Given the description of an element on the screen output the (x, y) to click on. 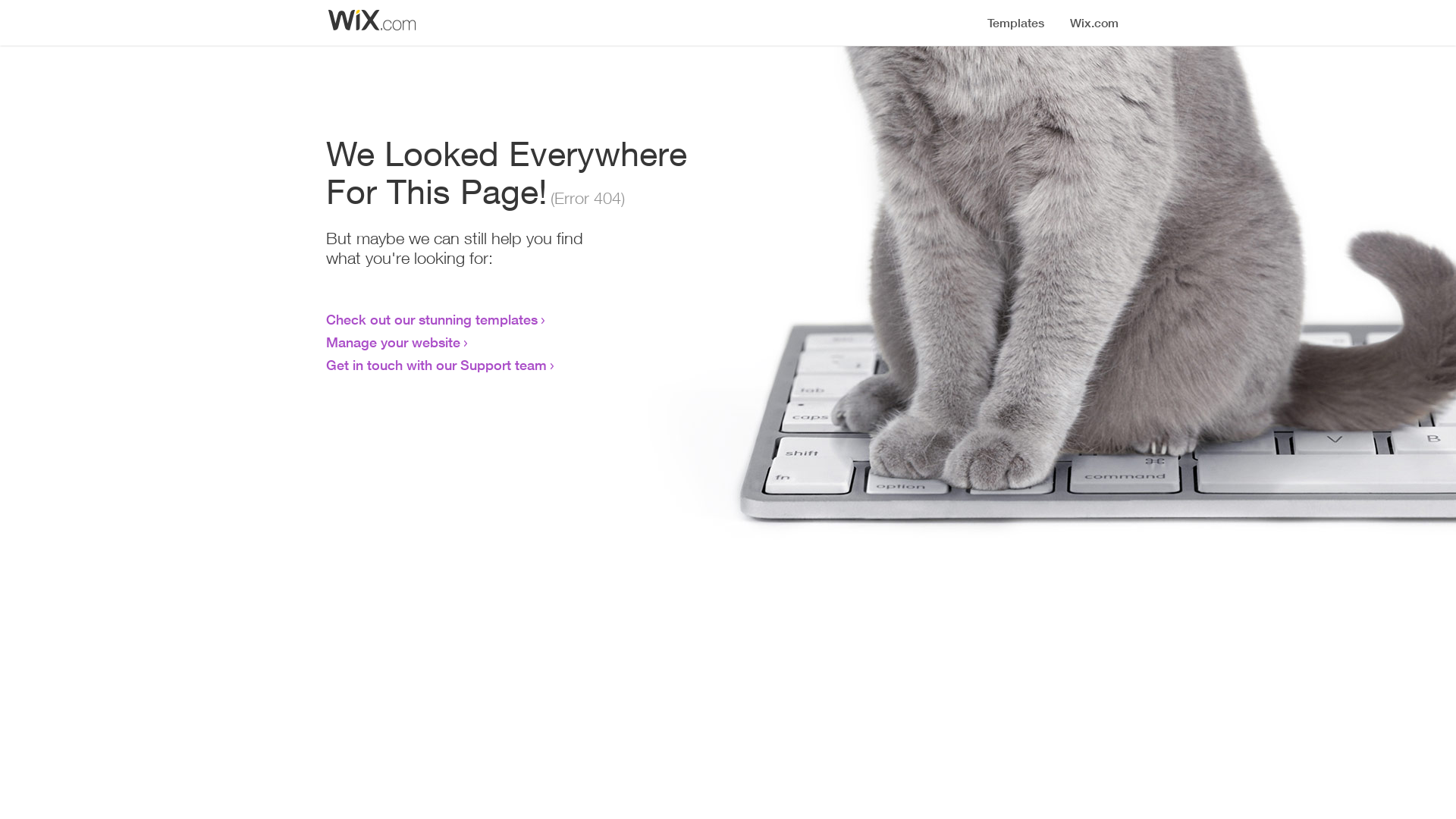
Get in touch with our Support team Element type: text (436, 364)
Manage your website Element type: text (393, 341)
Check out our stunning templates Element type: text (431, 318)
